Given the description of an element on the screen output the (x, y) to click on. 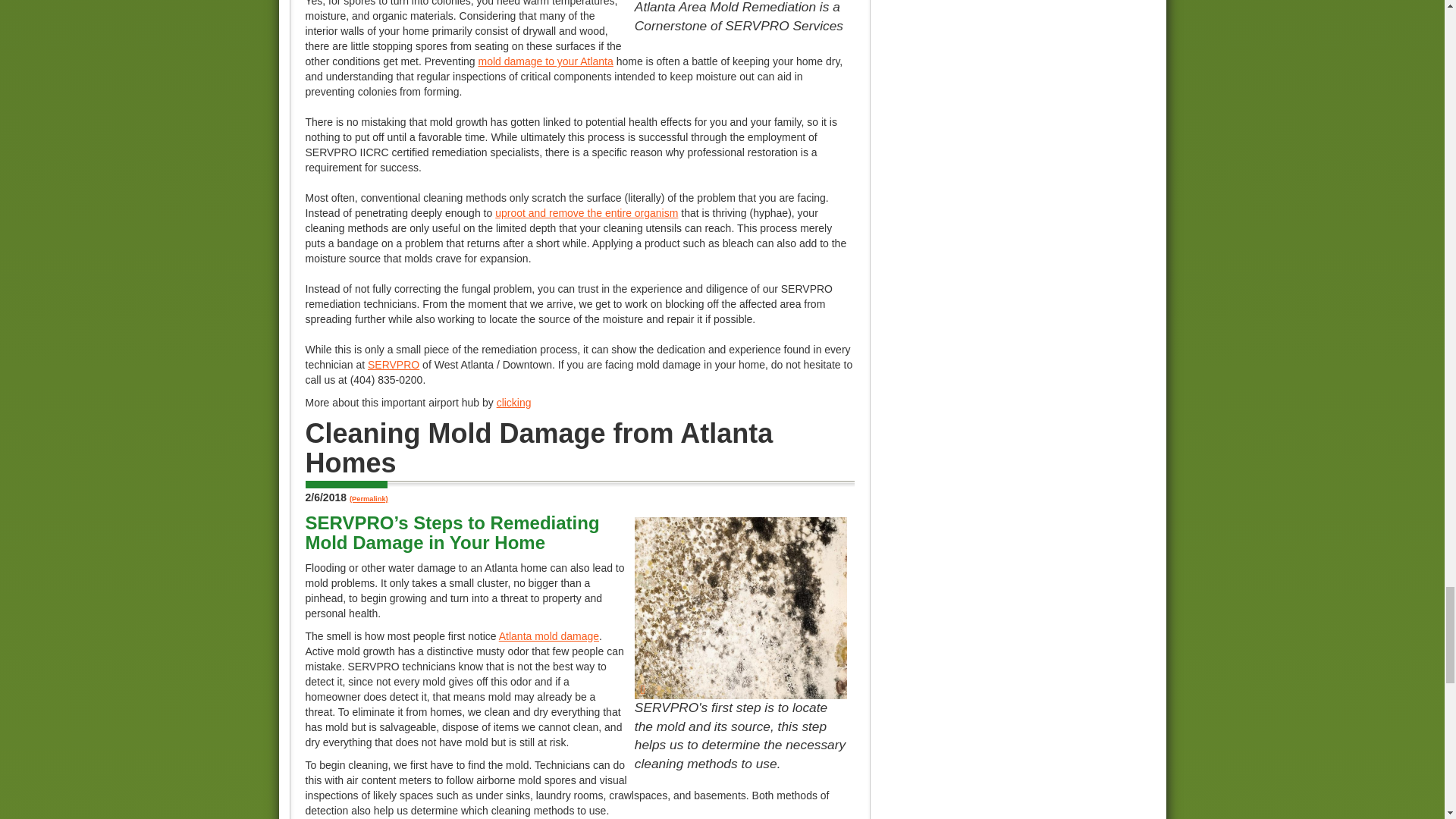
uproot and remove the entire organism (586, 213)
clicking (513, 402)
SERVPRO (393, 364)
mold damage to your Atlanta (545, 61)
